Given the description of an element on the screen output the (x, y) to click on. 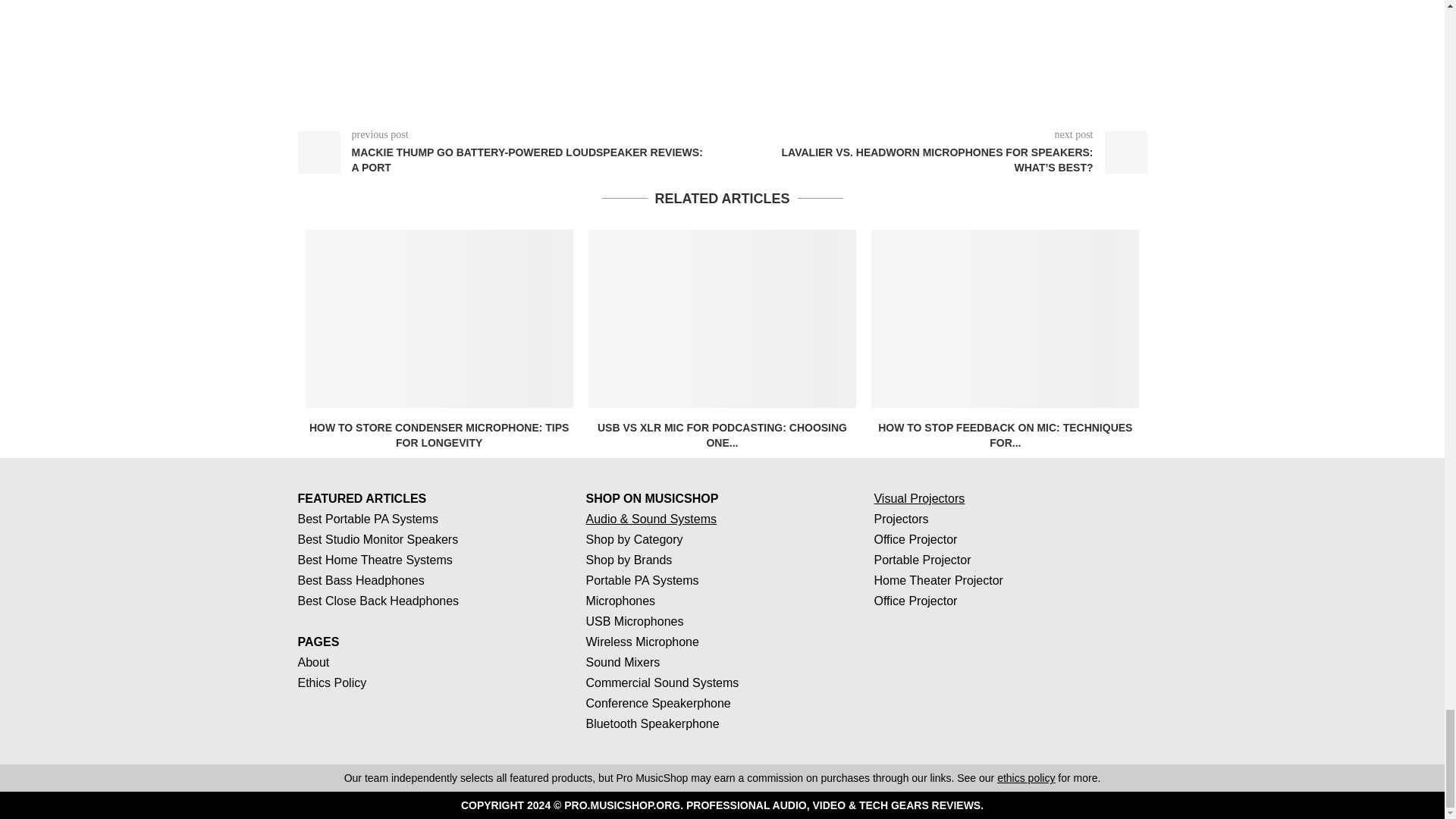
USB vs XLR Mic for Podcasting: Choosing One for Your Show (722, 319)
How to Store Condenser Microphone: Tips for Longevity (438, 319)
How to Stop Feedback on Mic: Techniques for Clear Sound (1004, 319)
